Given the description of an element on the screen output the (x, y) to click on. 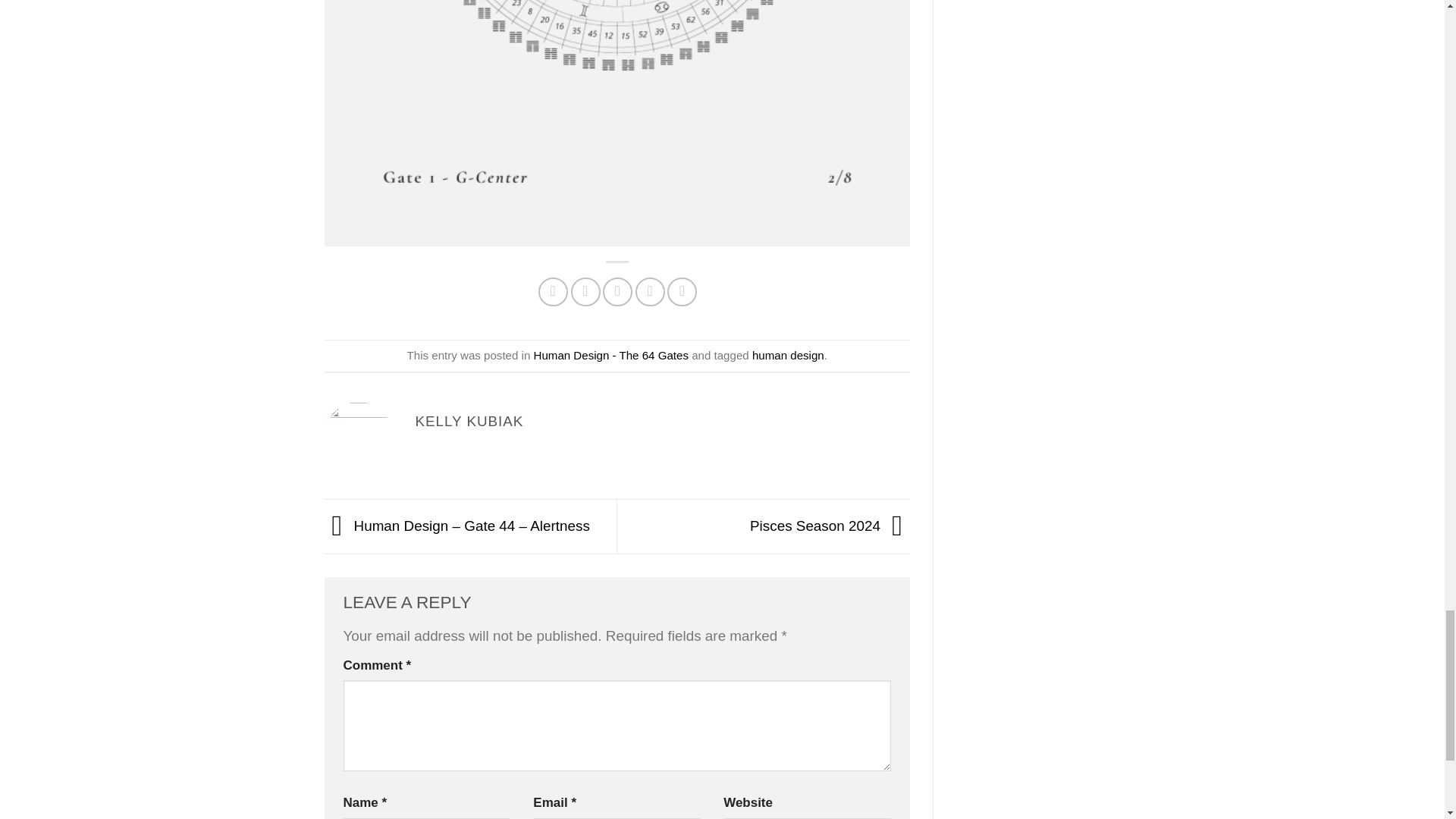
human design (788, 354)
Human Design - The 64 Gates (611, 354)
Email to a Friend (616, 292)
Share on Facebook (552, 292)
Pisces Season 2024 (829, 524)
Pin on Pinterest (649, 292)
Share on LinkedIn (681, 292)
Share on Twitter (584, 292)
